Given the description of an element on the screen output the (x, y) to click on. 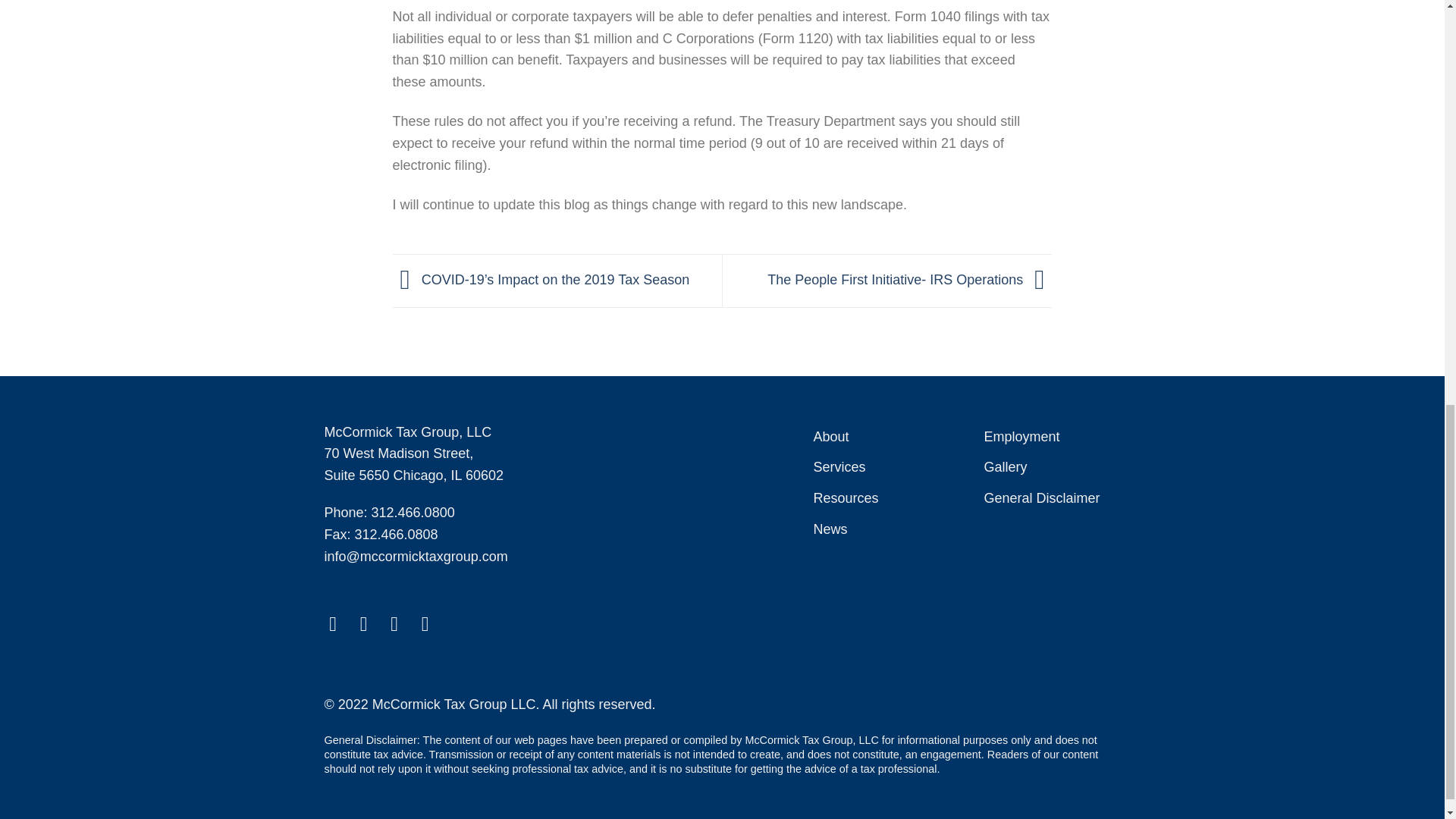
Gallery (1005, 467)
Send us an email (400, 623)
About (830, 436)
General Disclaimer (1041, 498)
Employment (1021, 436)
Follow on LinkedIn (432, 623)
Services (838, 467)
Resources (844, 498)
The People First Initiative- IRS Operations (909, 279)
Follow on Twitter (369, 623)
News (829, 529)
Follow on Facebook (339, 623)
